Given the description of an element on the screen output the (x, y) to click on. 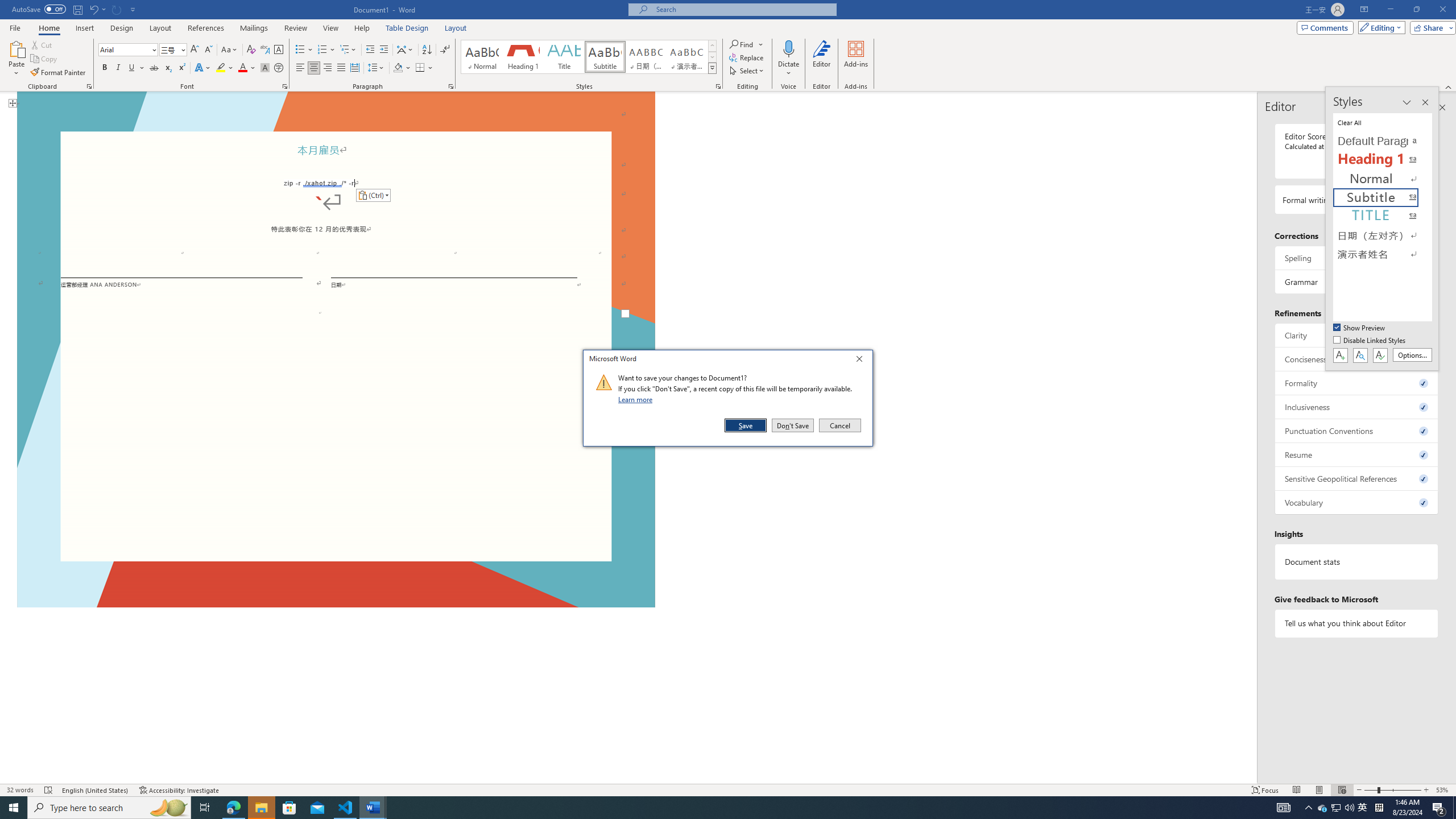
Show Preview (1360, 328)
Clear All (1382, 122)
Formality, 0 issues. Press space or enter to review items. (1356, 382)
Action: Paste alternatives (373, 195)
Editing (1379, 27)
